Given the description of an element on the screen output the (x, y) to click on. 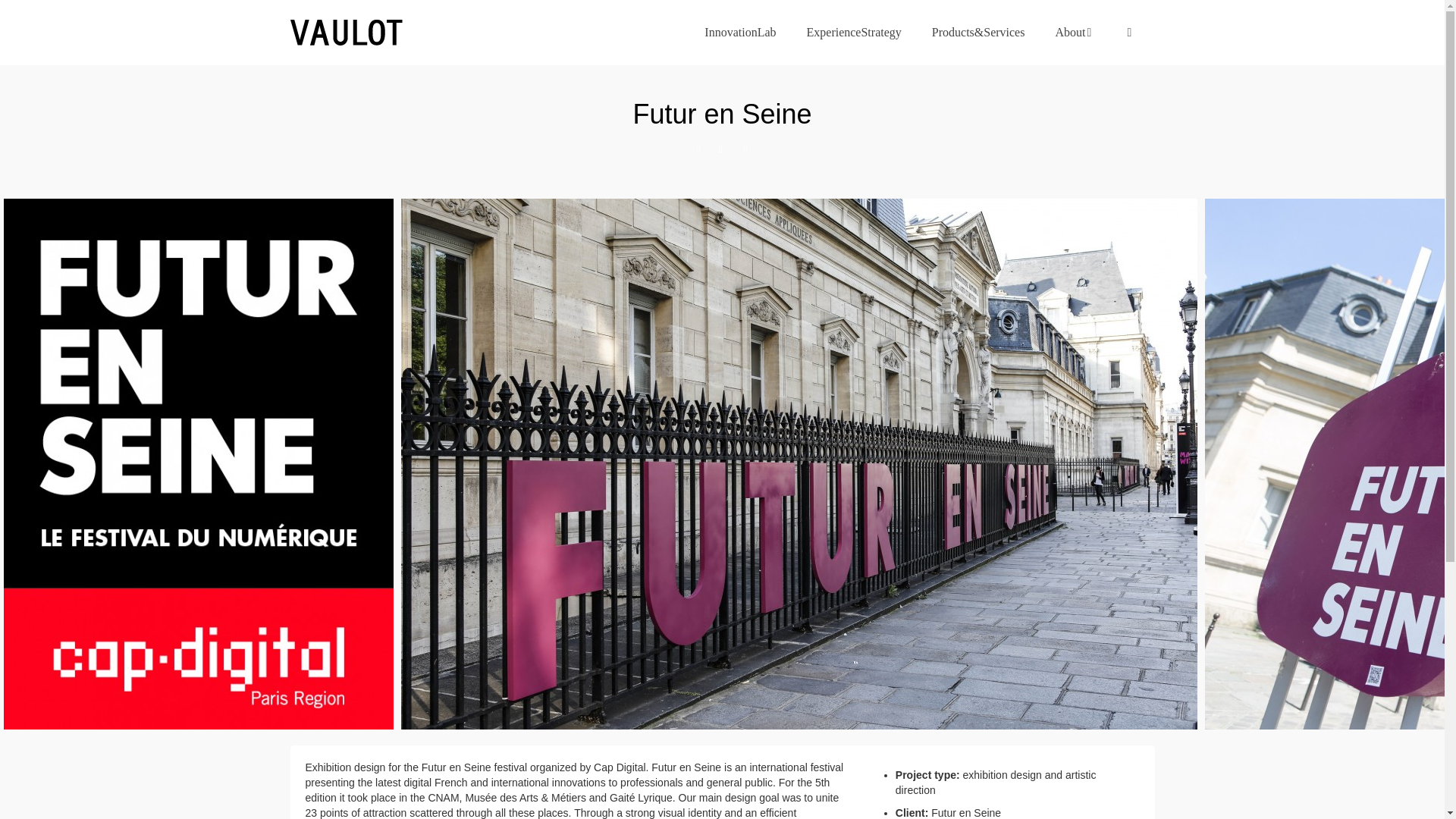
InnovationLab (739, 32)
ExperienceStrategy (854, 32)
About (1073, 32)
